Given the description of an element on the screen output the (x, y) to click on. 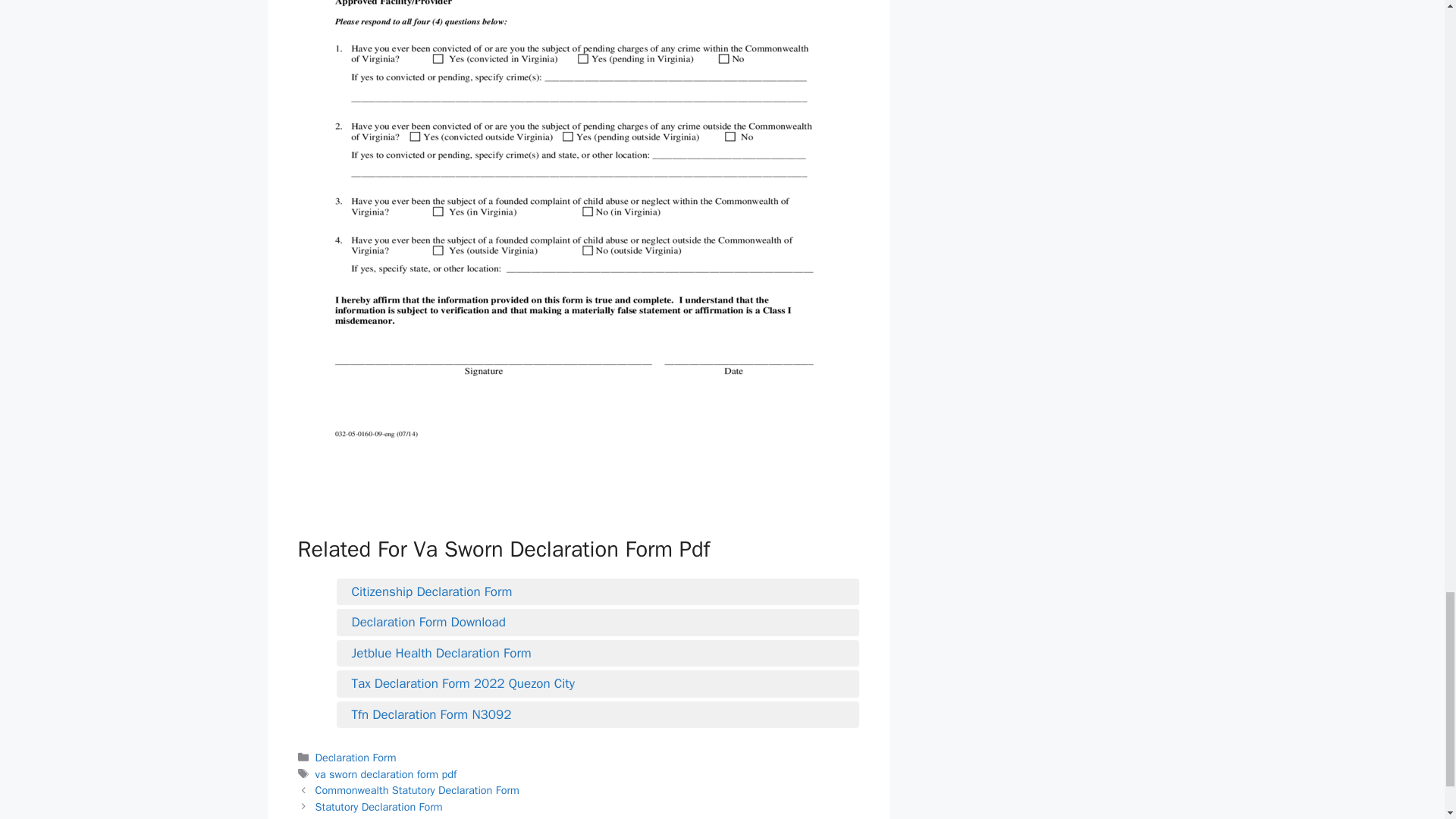
Declaration Form (355, 757)
Citizenship Declaration Form (597, 591)
Tfn Declaration Form N3092 (597, 714)
Tax Declaration Form 2022 Quezon City (597, 683)
Statutory Declaration Form (378, 807)
va sworn declaration form pdf (386, 774)
Commonwealth Statutory Declaration Form (417, 789)
Declaration Form Download (597, 621)
Jetblue Health Declaration Form (597, 653)
